Given the description of an element on the screen output the (x, y) to click on. 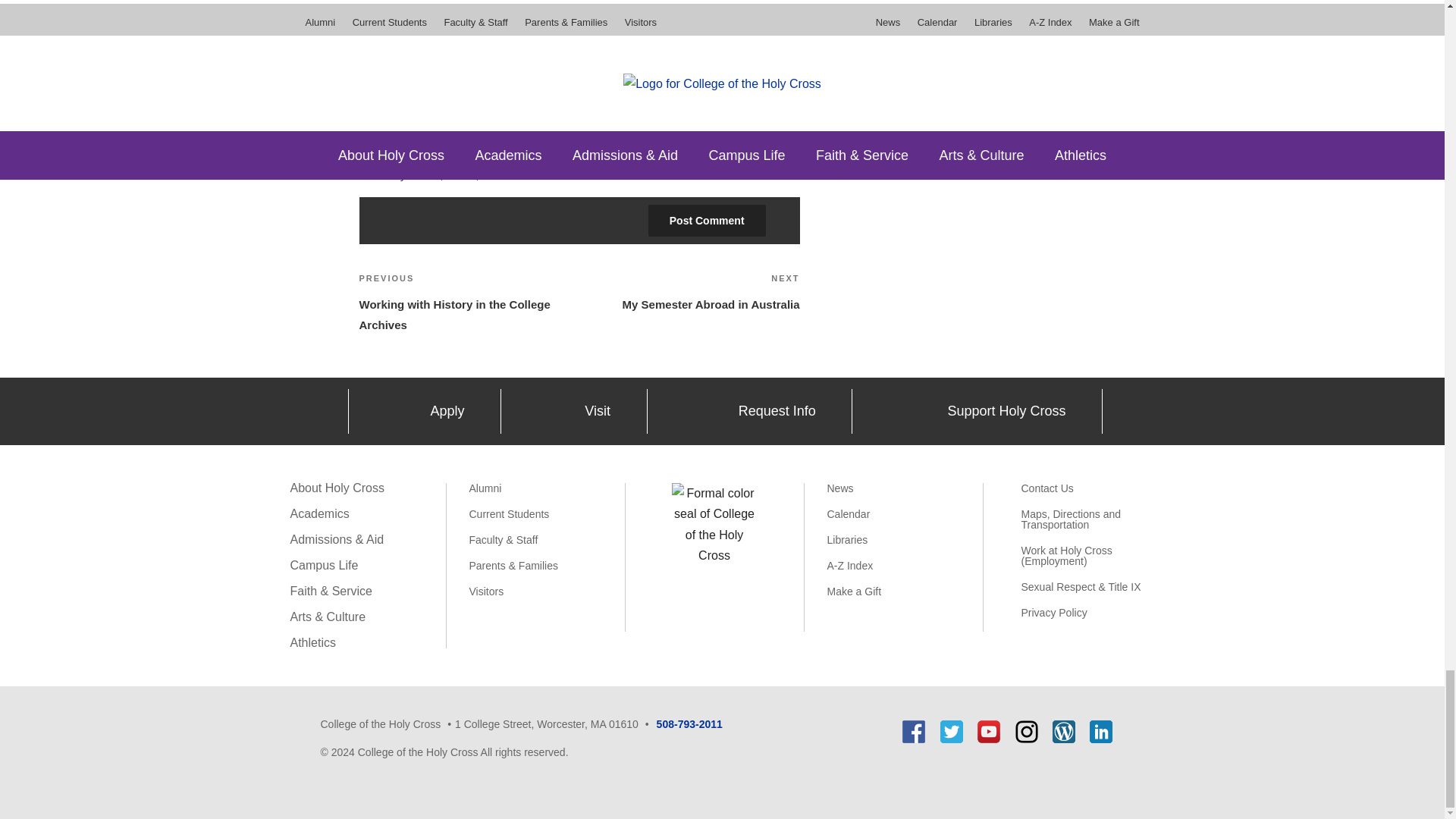
Post Comment (706, 220)
yes (364, 153)
